Given the description of an element on the screen output the (x, y) to click on. 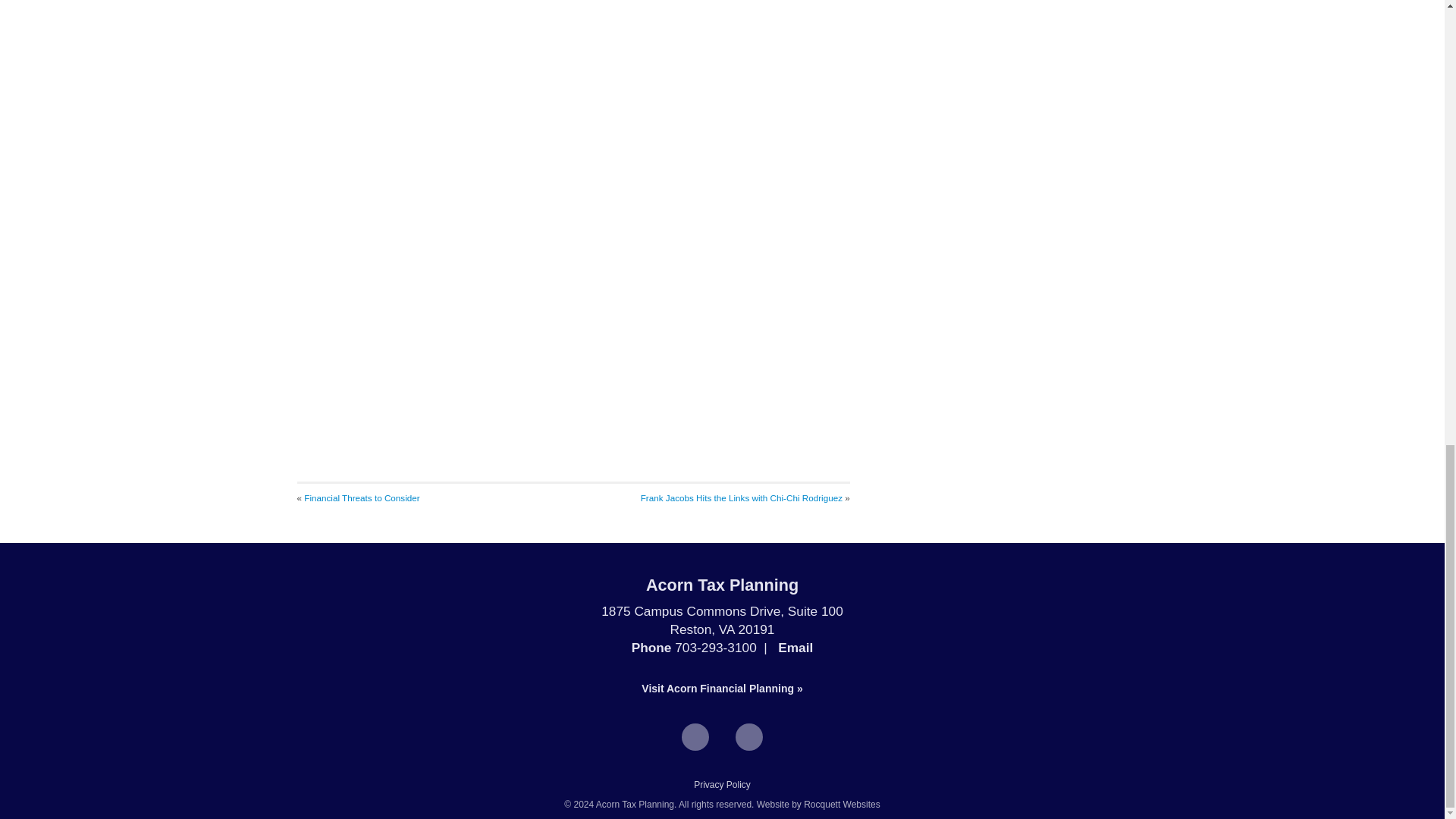
Email (794, 647)
Rocquett Websites (841, 804)
Financial Threats to Consider (361, 497)
Frank Jacobs Hits the Links with Chi-Chi Rodriguez (741, 497)
Privacy Policy (722, 784)
